Given the description of an element on the screen output the (x, y) to click on. 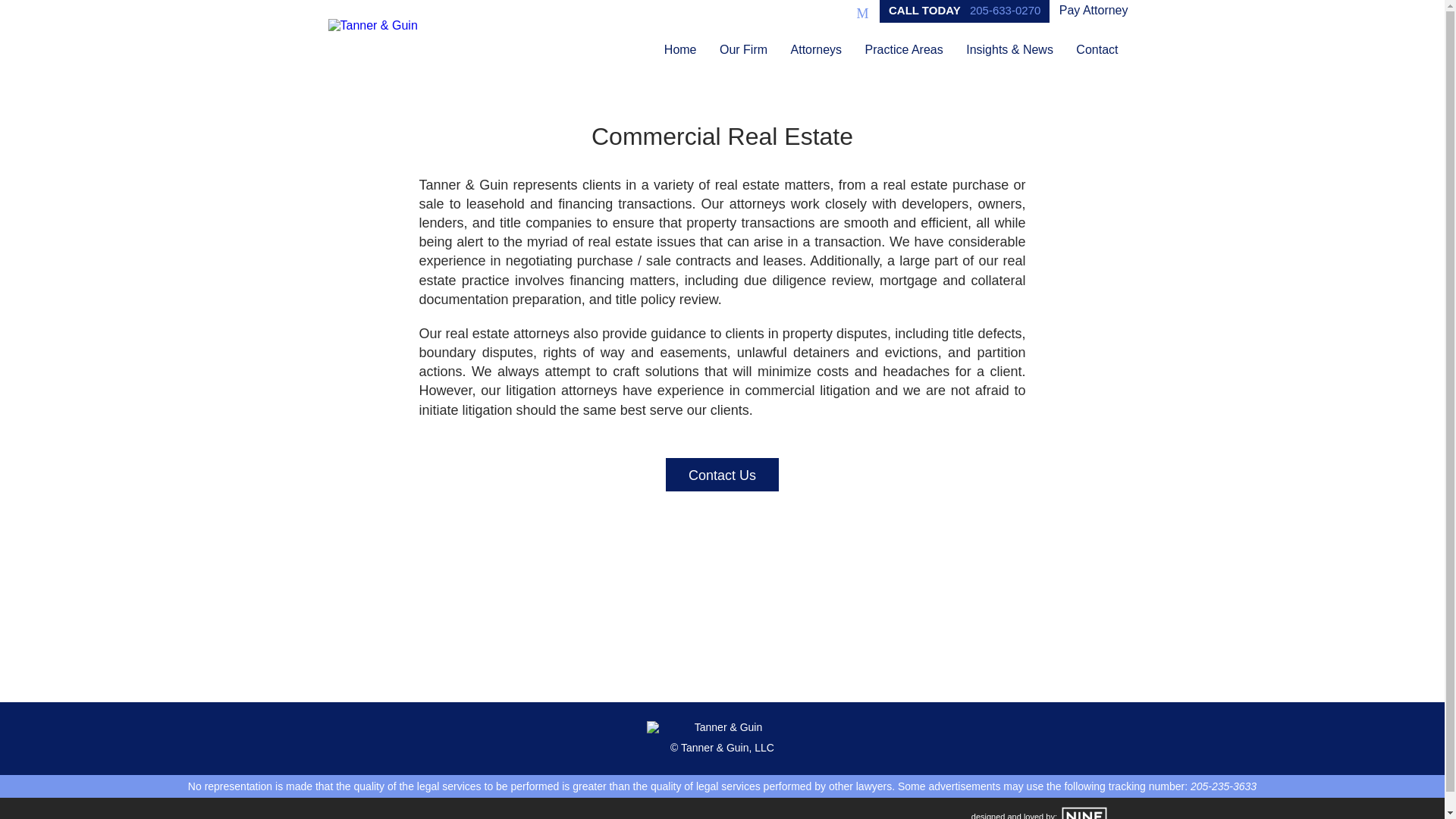
Pay Attorney (1093, 10)
Our Firm (743, 49)
Home (679, 49)
Attorneys (815, 49)
Contact (1095, 49)
Practice Areas (904, 49)
Contact Us (721, 474)
Attorneys (815, 49)
205-633-0270 (1005, 10)
Our Firm (743, 49)
